Given the description of an element on the screen output the (x, y) to click on. 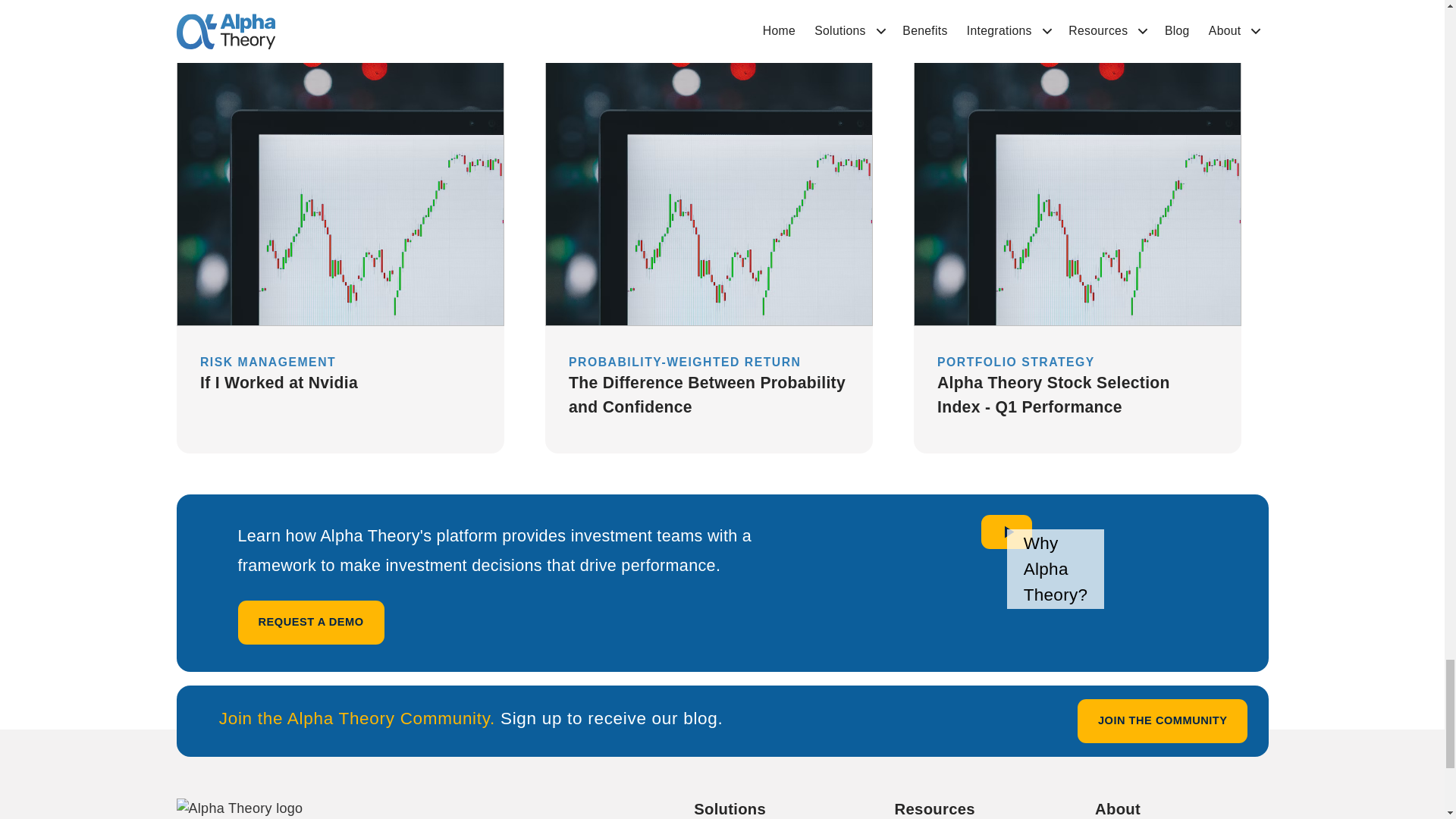
JOIN THE COMMUNITY (1162, 720)
Why Alpha Theory? (1005, 531)
REQUEST A DEMO (311, 622)
